Given the description of an element on the screen output the (x, y) to click on. 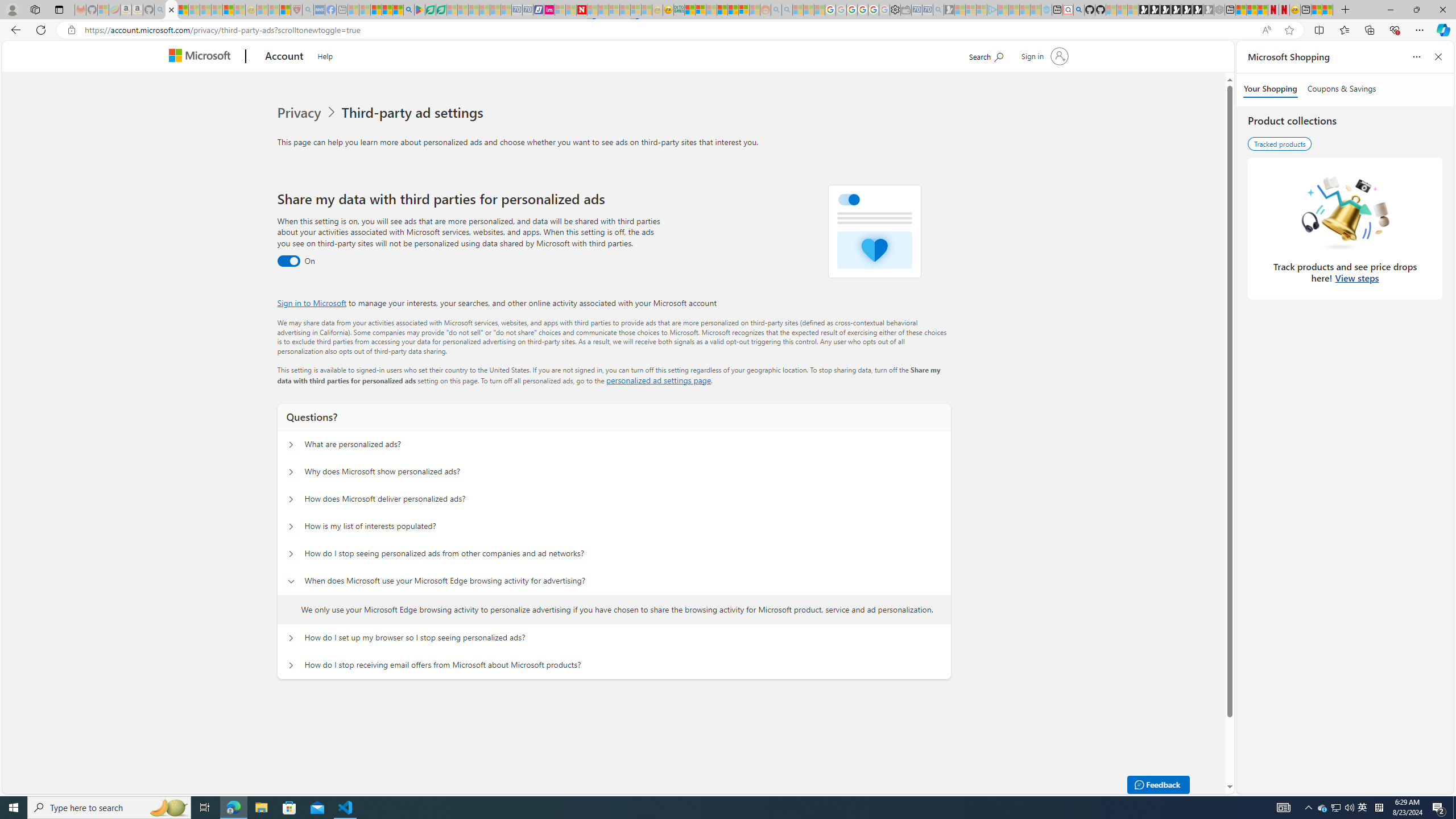
Account (283, 56)
